Given the description of an element on the screen output the (x, y) to click on. 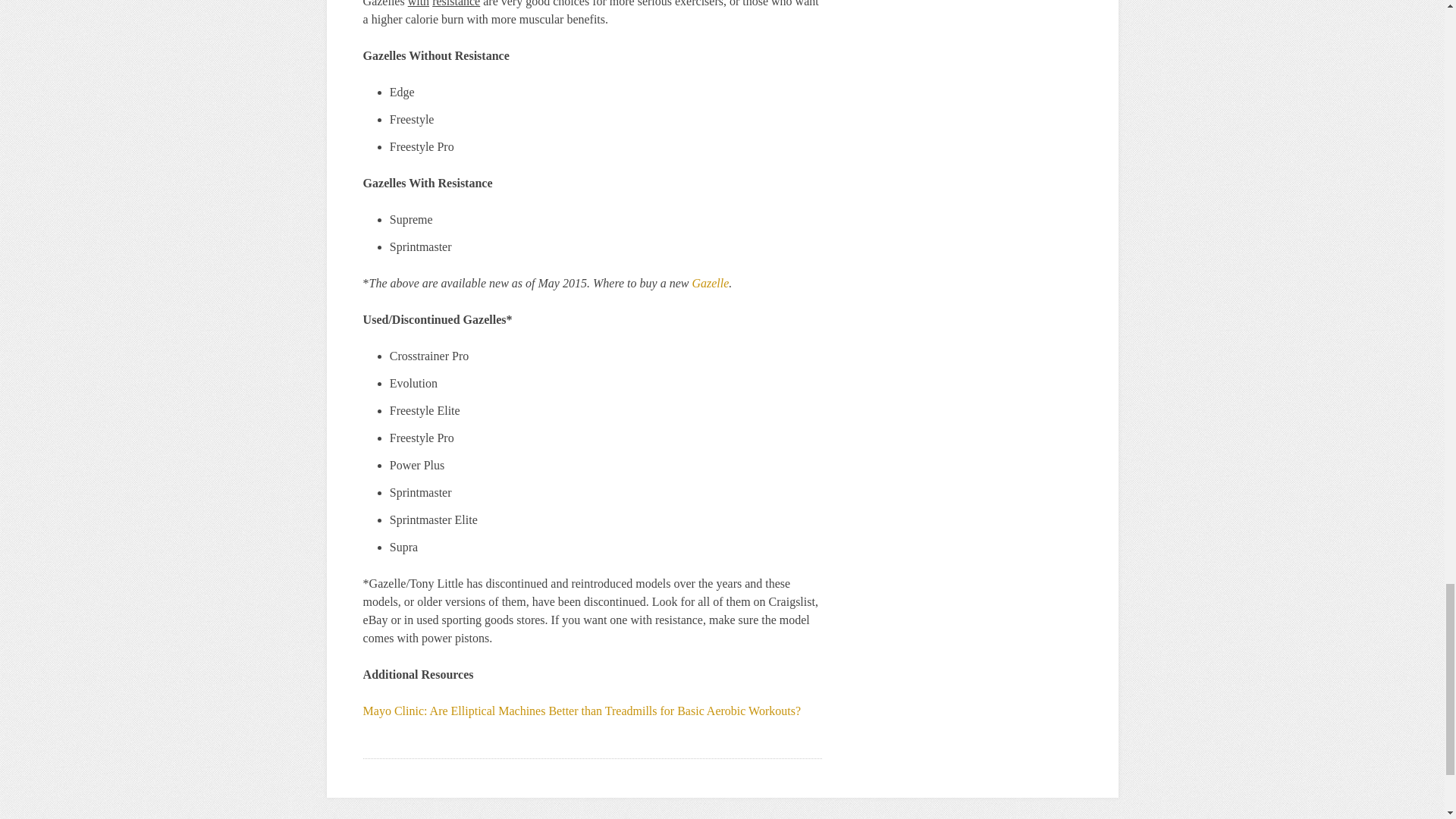
Gazelle (710, 282)
Advertisement (721, 812)
